Given the description of an element on the screen output the (x, y) to click on. 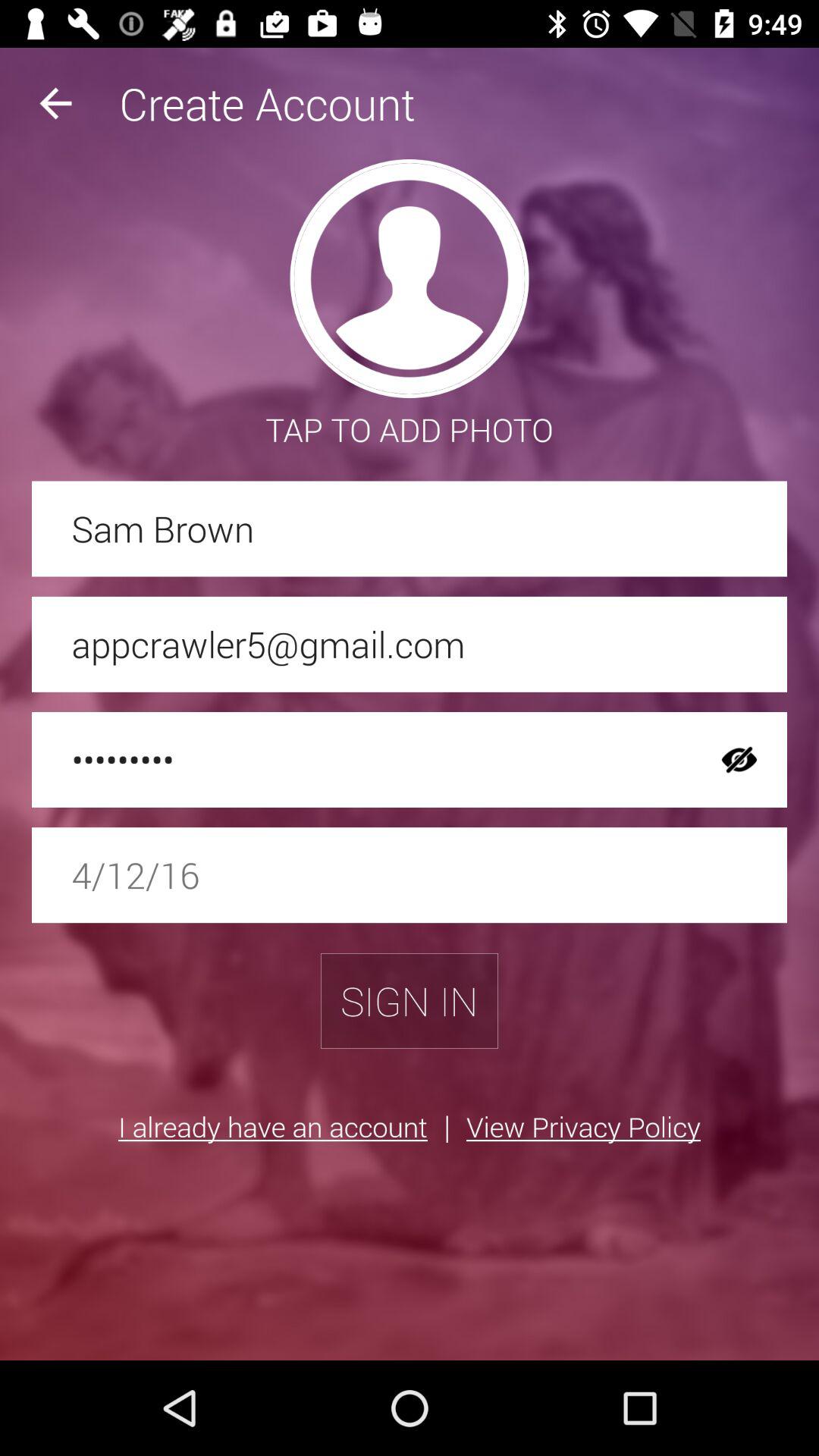
press the icon below the sam brown icon (409, 644)
